Given the description of an element on the screen output the (x, y) to click on. 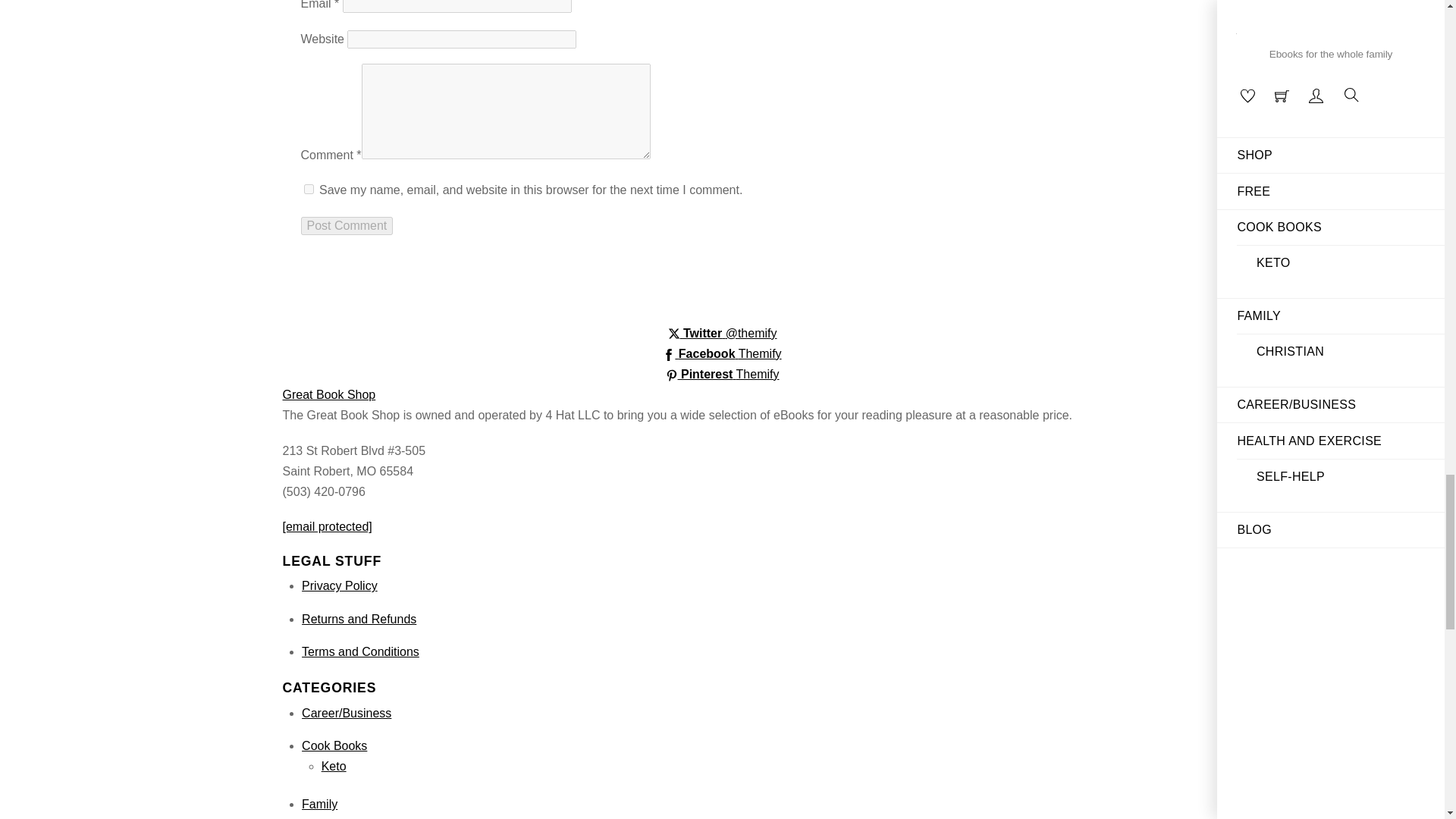
Post Comment (346, 226)
Privacy Policy (339, 585)
Pinterest Themify (721, 373)
Facebook Themify (721, 353)
yes (307, 189)
Great Book Shop (328, 394)
Post Comment (346, 226)
Great Book Shop (328, 394)
